Given the description of an element on the screen output the (x, y) to click on. 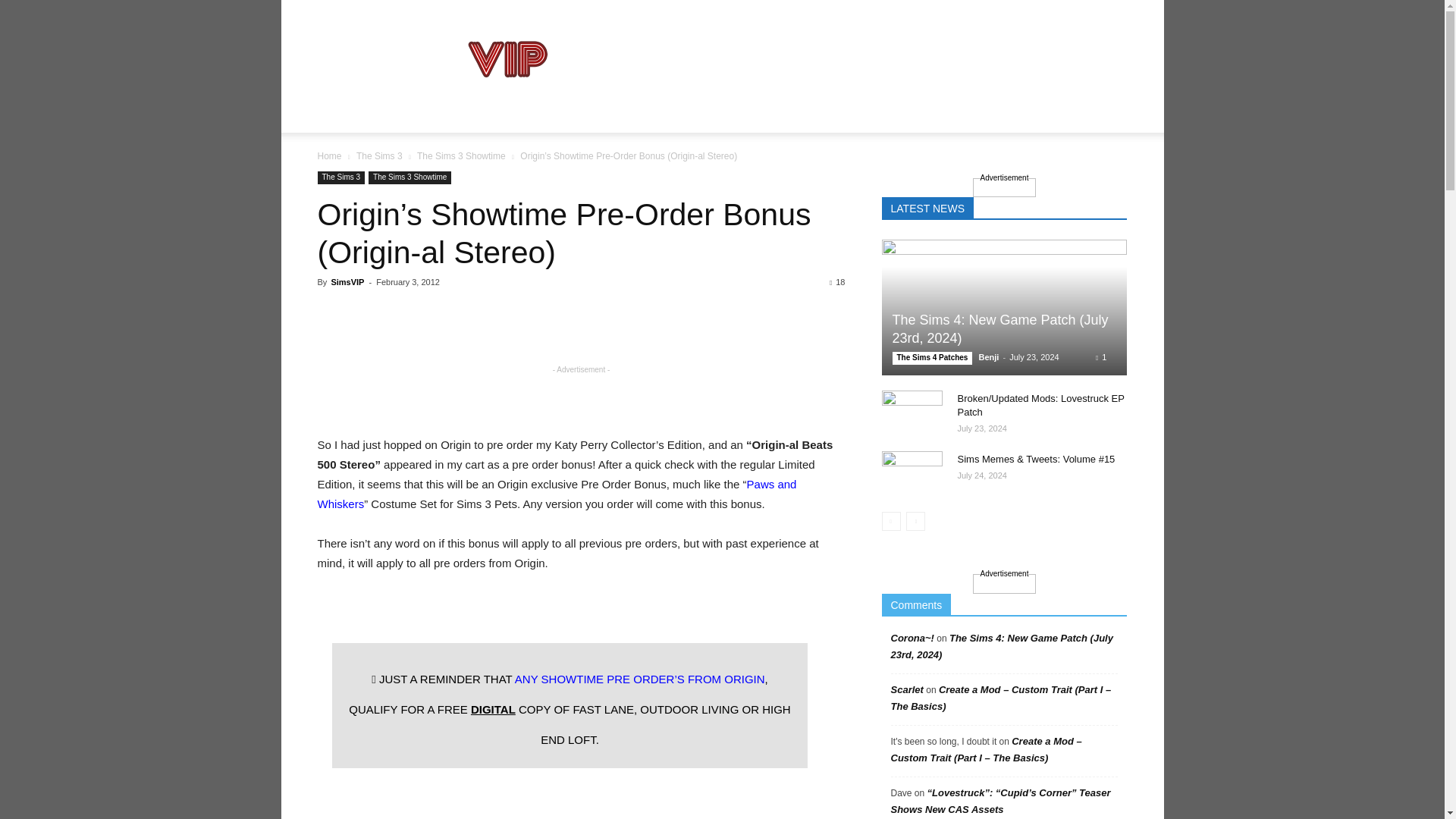
GAME GUIDES (447, 114)
SIMS NEWS (357, 114)
